Given the description of an element on the screen output the (x, y) to click on. 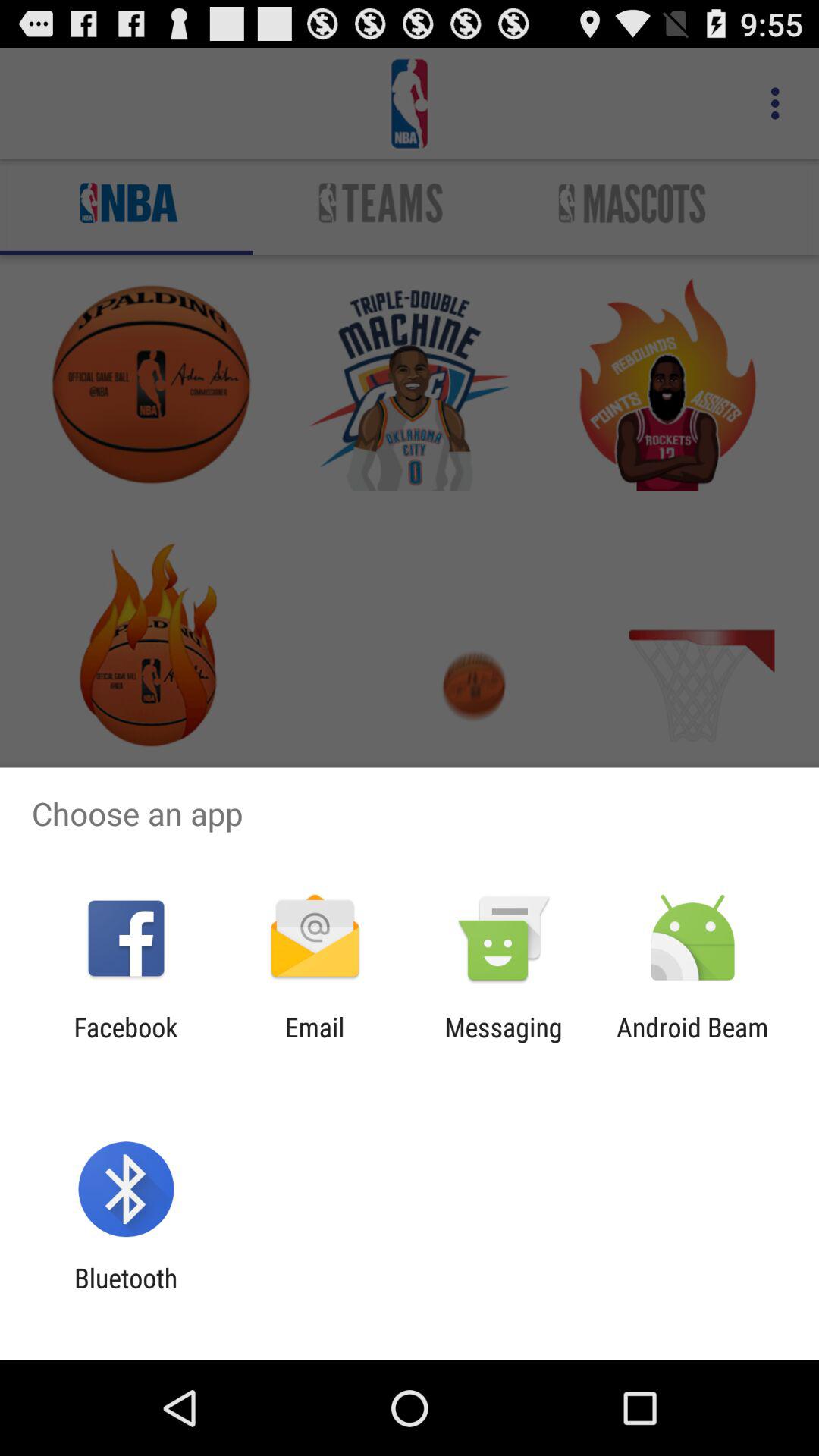
click app next to android beam (503, 1042)
